Given the description of an element on the screen output the (x, y) to click on. 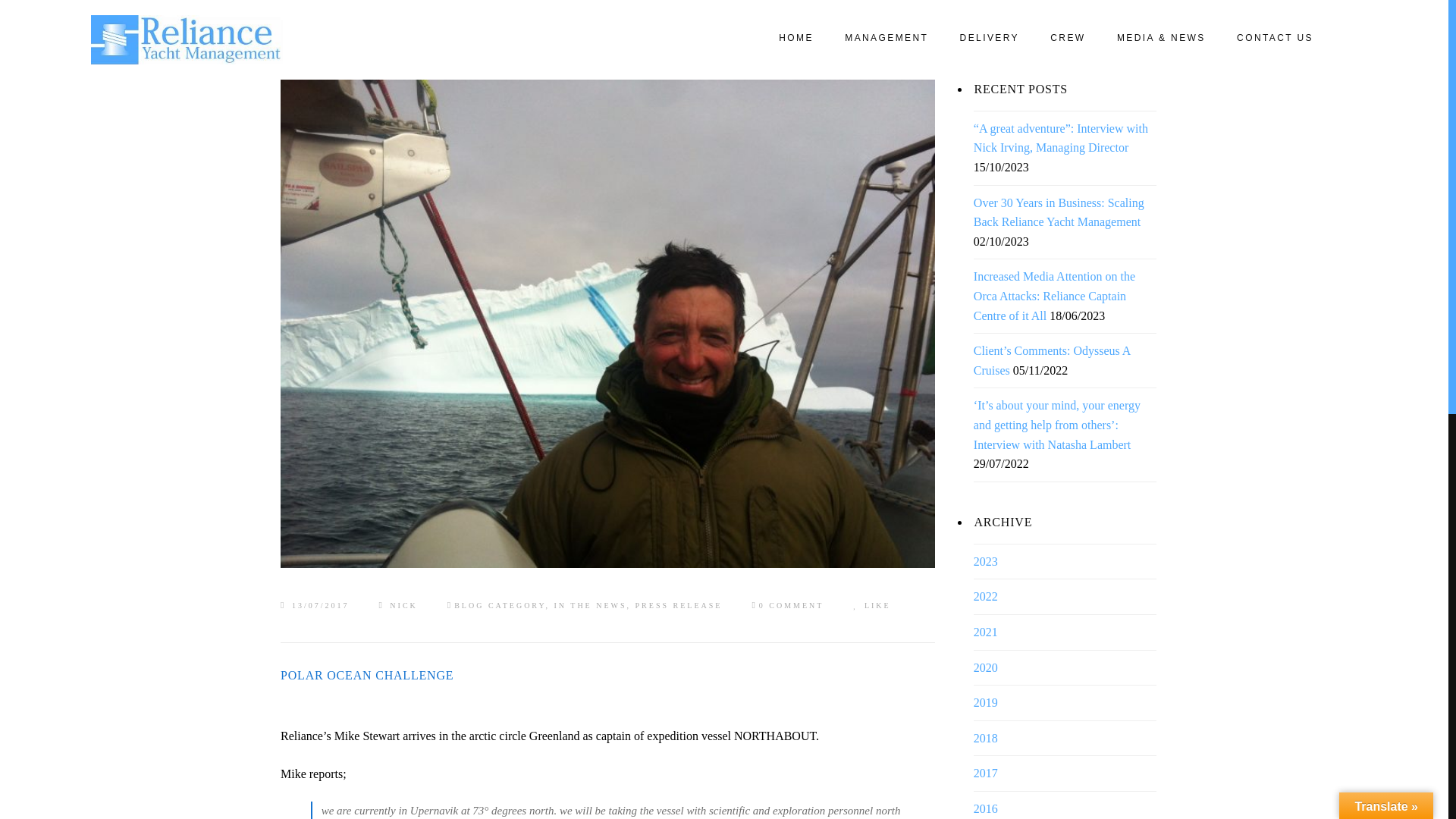
MANAGEMENT (885, 38)
Search (37, 17)
DELIVERY (988, 38)
Like (871, 605)
